Given the description of an element on the screen output the (x, y) to click on. 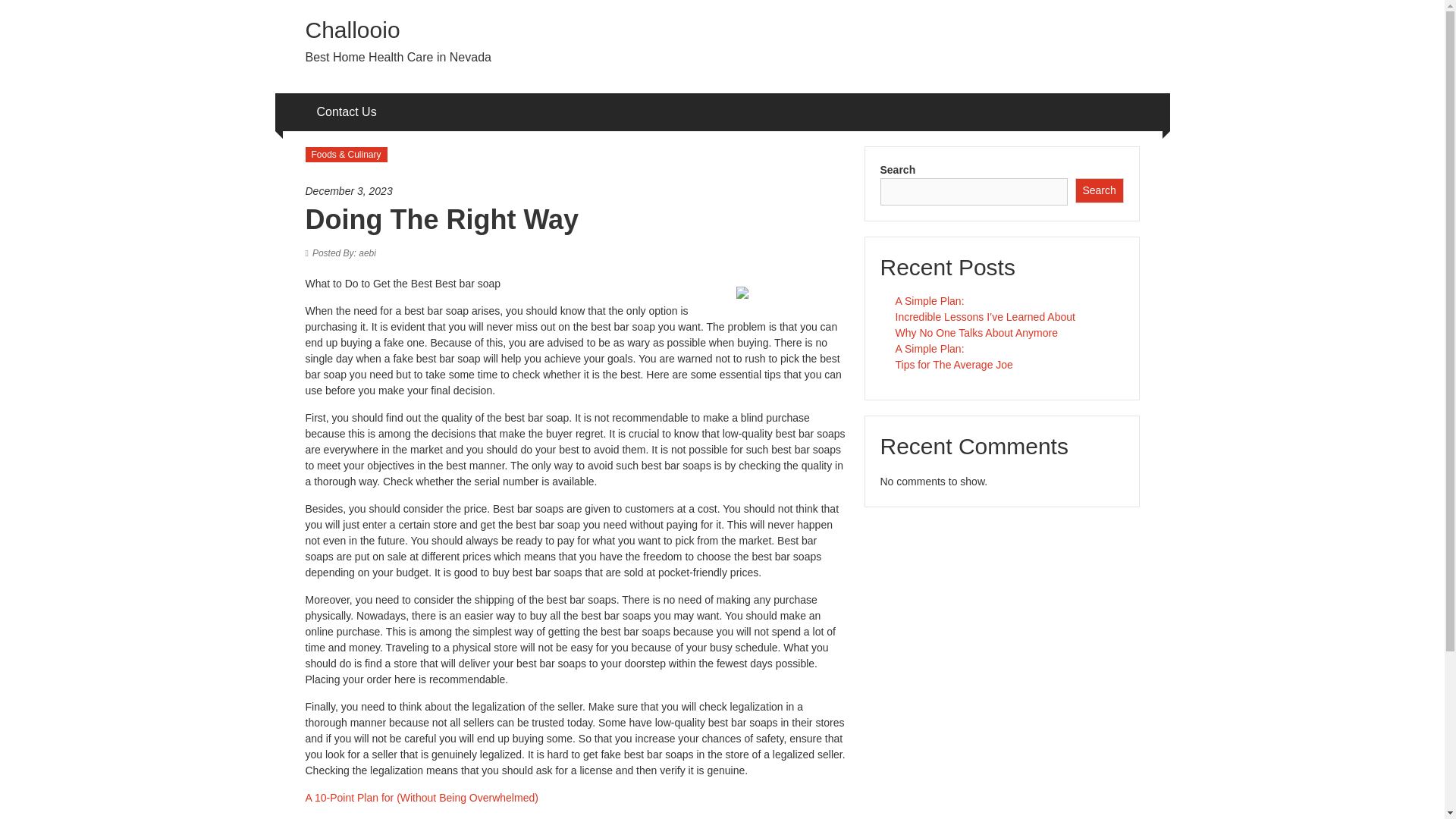
Posted By: aebi (344, 253)
Challooio (351, 29)
Tips for The Average Joe (953, 364)
Challooio (351, 29)
Contact Us (347, 112)
6:04 am (575, 191)
A Simple Plan: (929, 348)
A Simple Plan: (929, 300)
Why No One Talks About Anymore (976, 332)
Search (1099, 190)
